Given the description of an element on the screen output the (x, y) to click on. 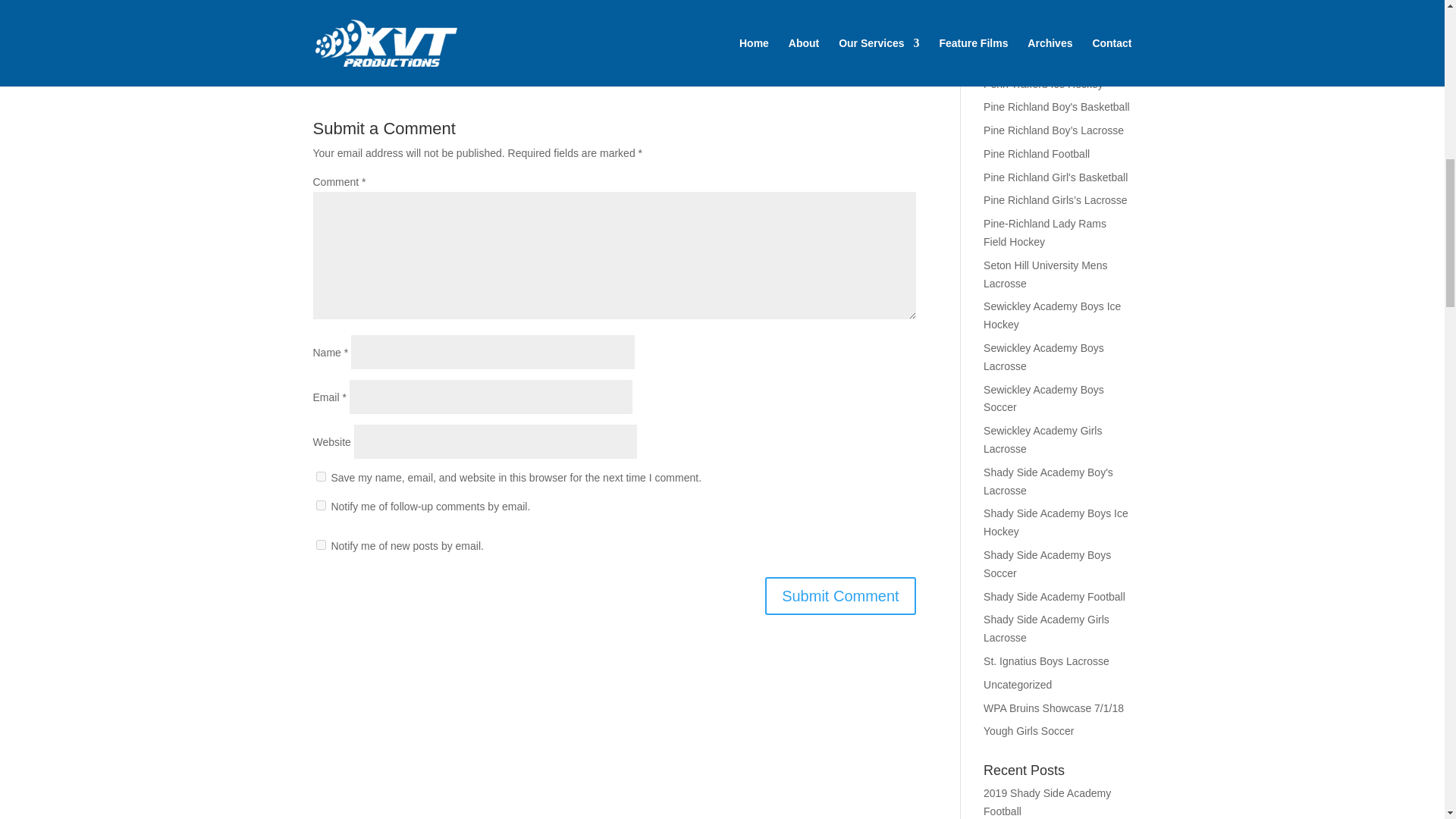
Submit Comment (840, 596)
subscribe (319, 505)
Click to share on Facebook (352, 22)
subscribe (319, 544)
Submit Comment (840, 596)
yes (319, 476)
Click to share on Twitter (324, 22)
